Given the description of an element on the screen output the (x, y) to click on. 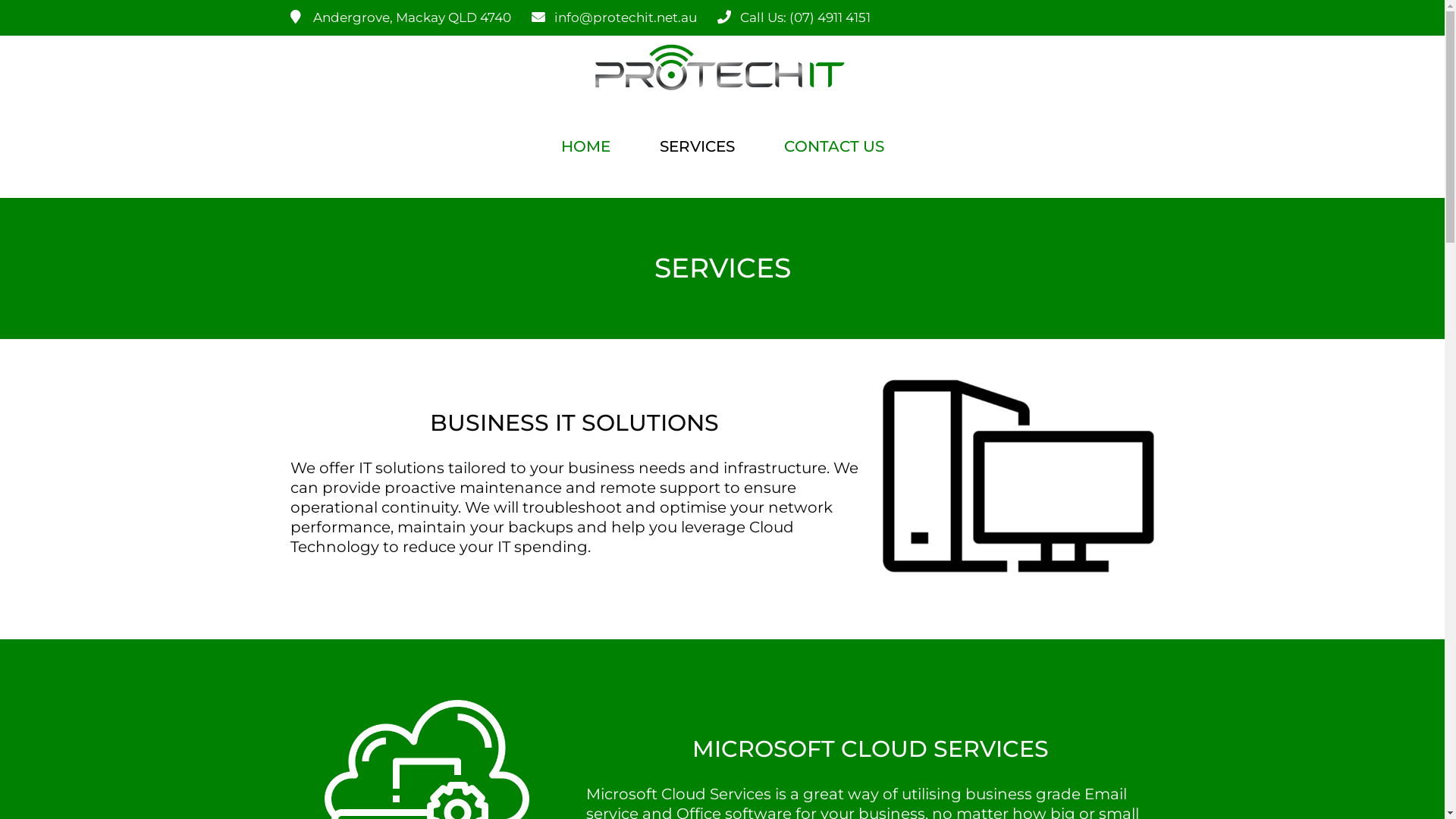
SERVICES Element type: text (697, 145)
  Element type: text (514, 146)
CONTACT US Element type: text (833, 145)
business services Element type: hover (1017, 475)
  Element type: text (928, 137)
HOME Element type: text (585, 145)
